Given the description of an element on the screen output the (x, y) to click on. 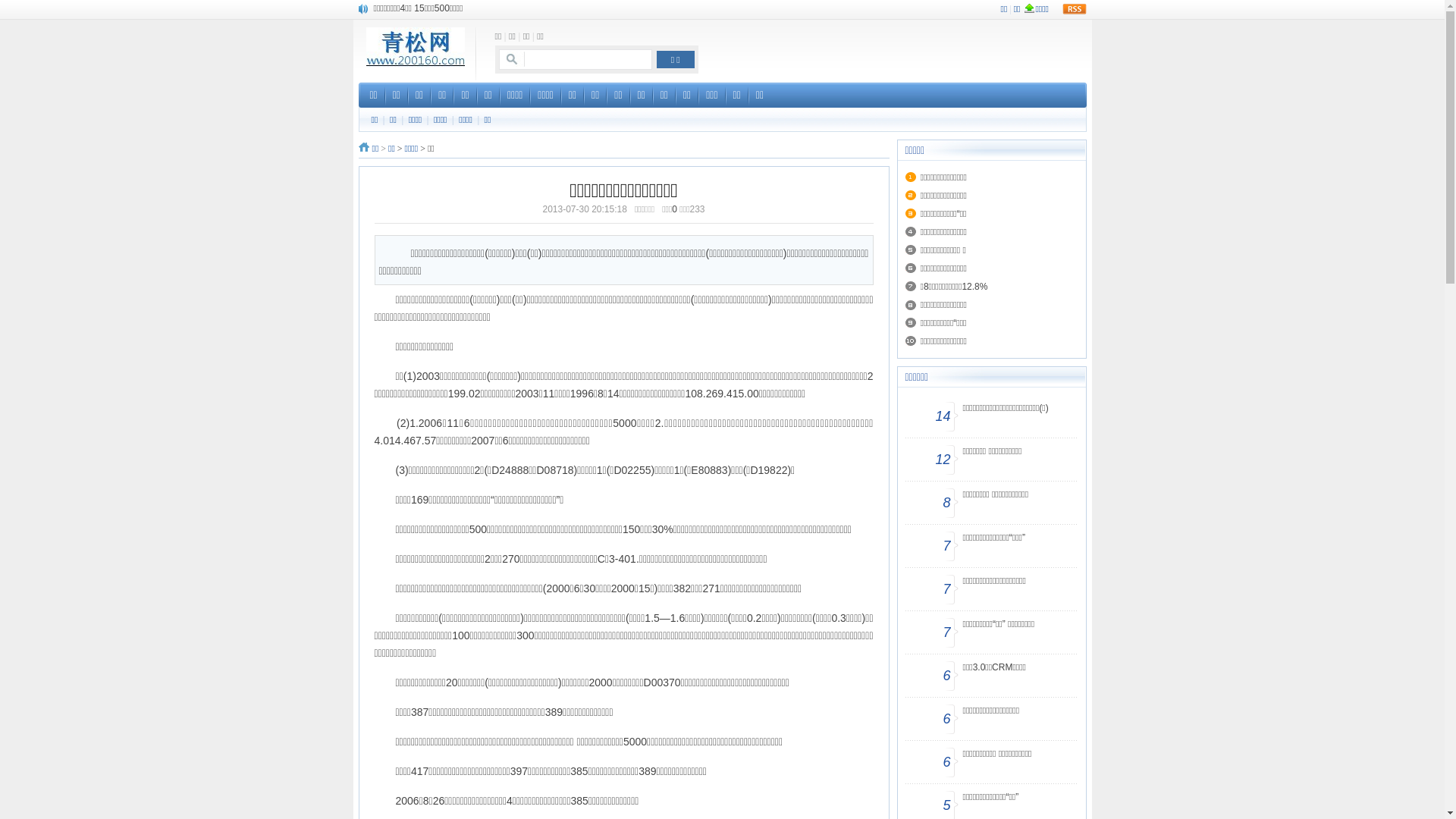
rss Element type: text (1073, 9)
0 Element type: text (674, 208)
